Given the description of an element on the screen output the (x, y) to click on. 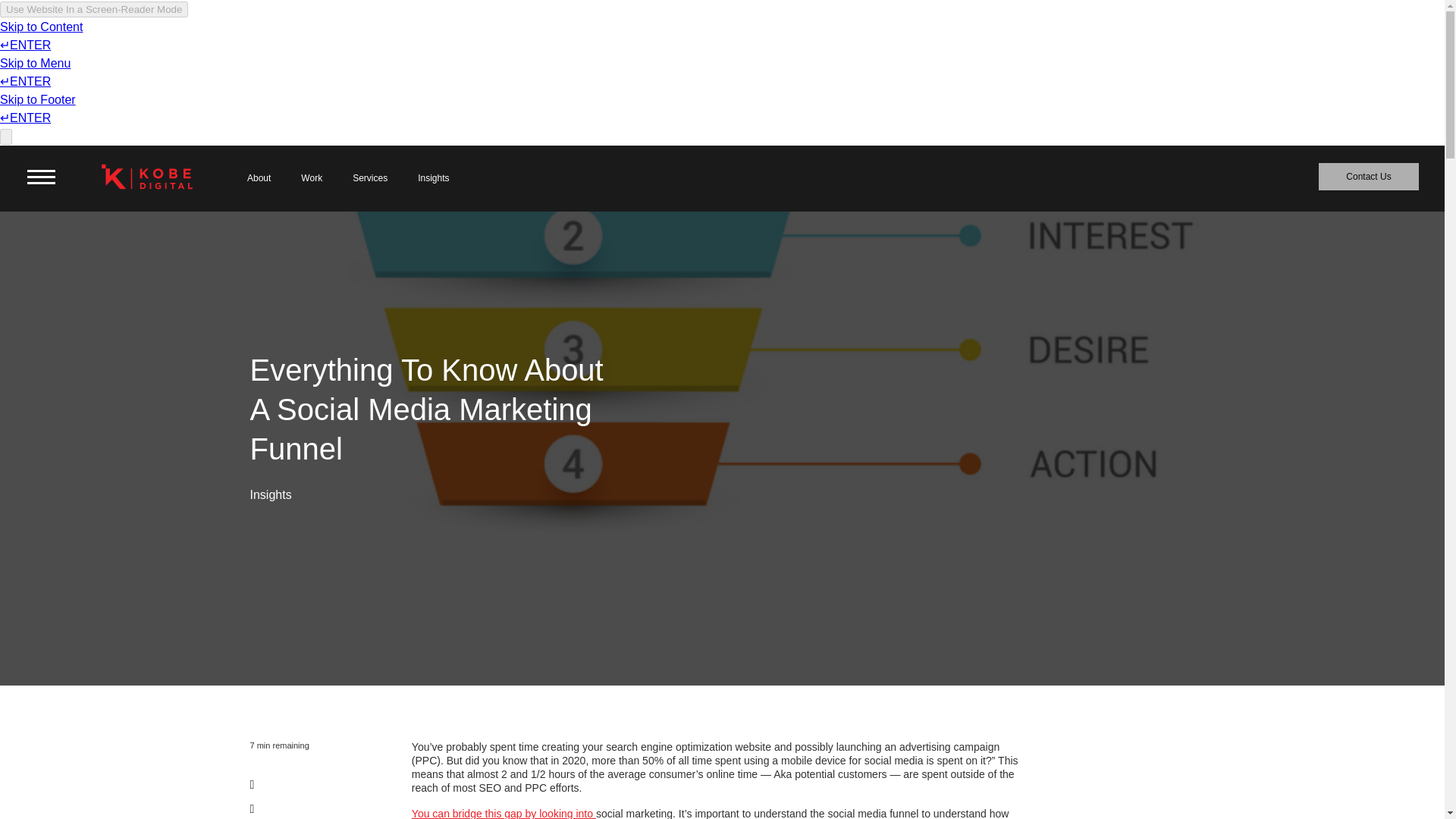
Privacy Widget (30, 788)
